Given the description of an element on the screen output the (x, y) to click on. 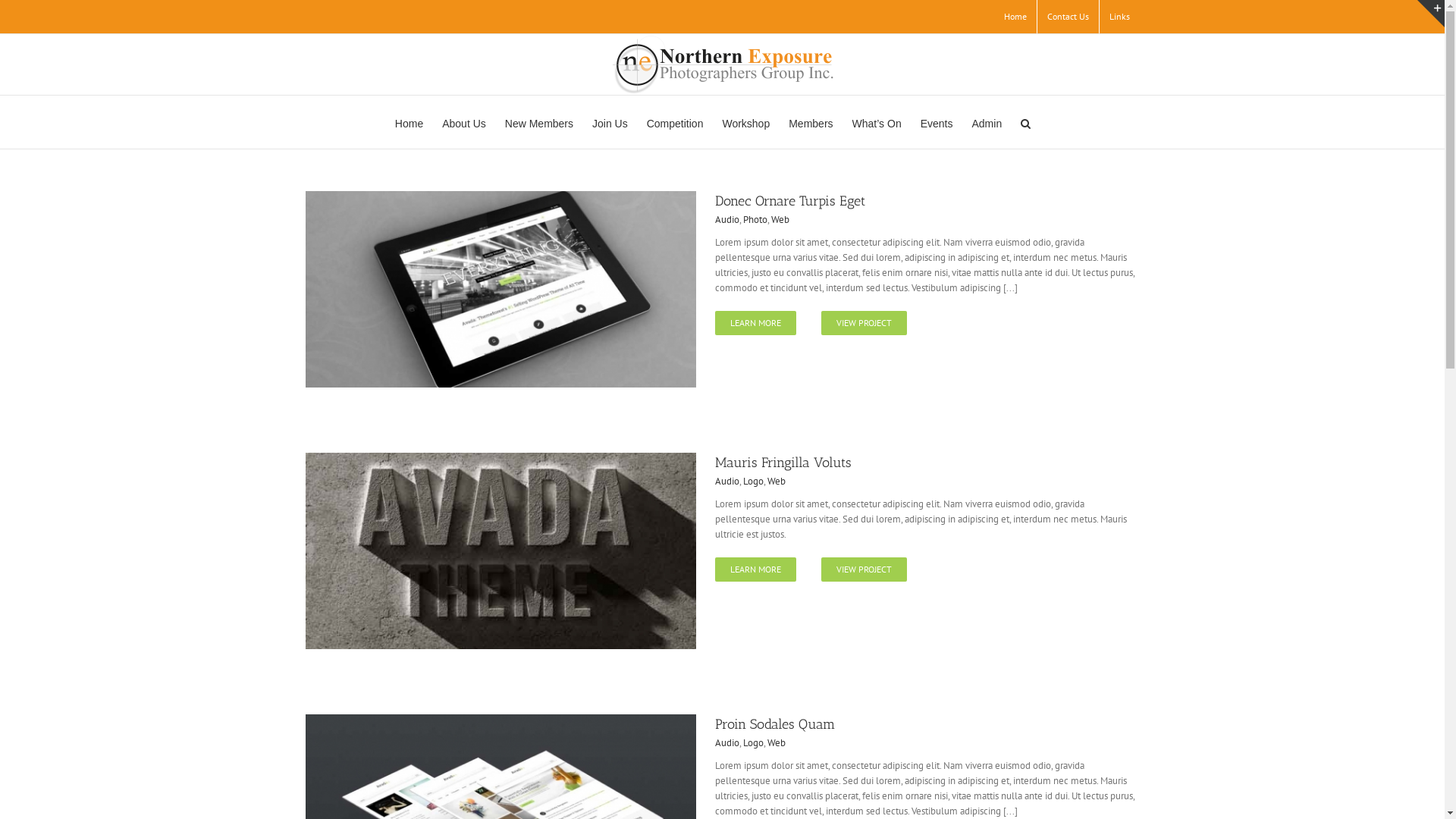
Join Us Element type: text (609, 121)
LEARN MORE Element type: text (754, 569)
New Members Element type: text (539, 121)
Competition Element type: text (674, 121)
Search Element type: hover (1025, 121)
Home Element type: text (1014, 16)
Photo Element type: text (755, 219)
Admin Element type: text (986, 121)
Web Element type: text (776, 742)
Home Element type: text (409, 121)
Mauris Fringilla Voluts Element type: text (782, 462)
Logo Element type: text (753, 742)
About Us Element type: text (464, 121)
Donec Ornare Turpis Eget Element type: text (789, 200)
Logo Element type: text (753, 480)
Members Element type: text (810, 121)
Workshop Element type: text (745, 121)
VIEW PROJECT Element type: text (863, 569)
Audio Element type: text (726, 219)
Audio Element type: text (726, 480)
VIEW PROJECT Element type: text (863, 322)
Proin Sodales Quam Element type: text (774, 723)
Audio Element type: text (726, 742)
Web Element type: text (776, 480)
Contact Us Element type: text (1067, 16)
Web Element type: text (779, 219)
LEARN MORE Element type: text (754, 322)
Links Element type: text (1119, 16)
Events Element type: text (936, 121)
